Given the description of an element on the screen output the (x, y) to click on. 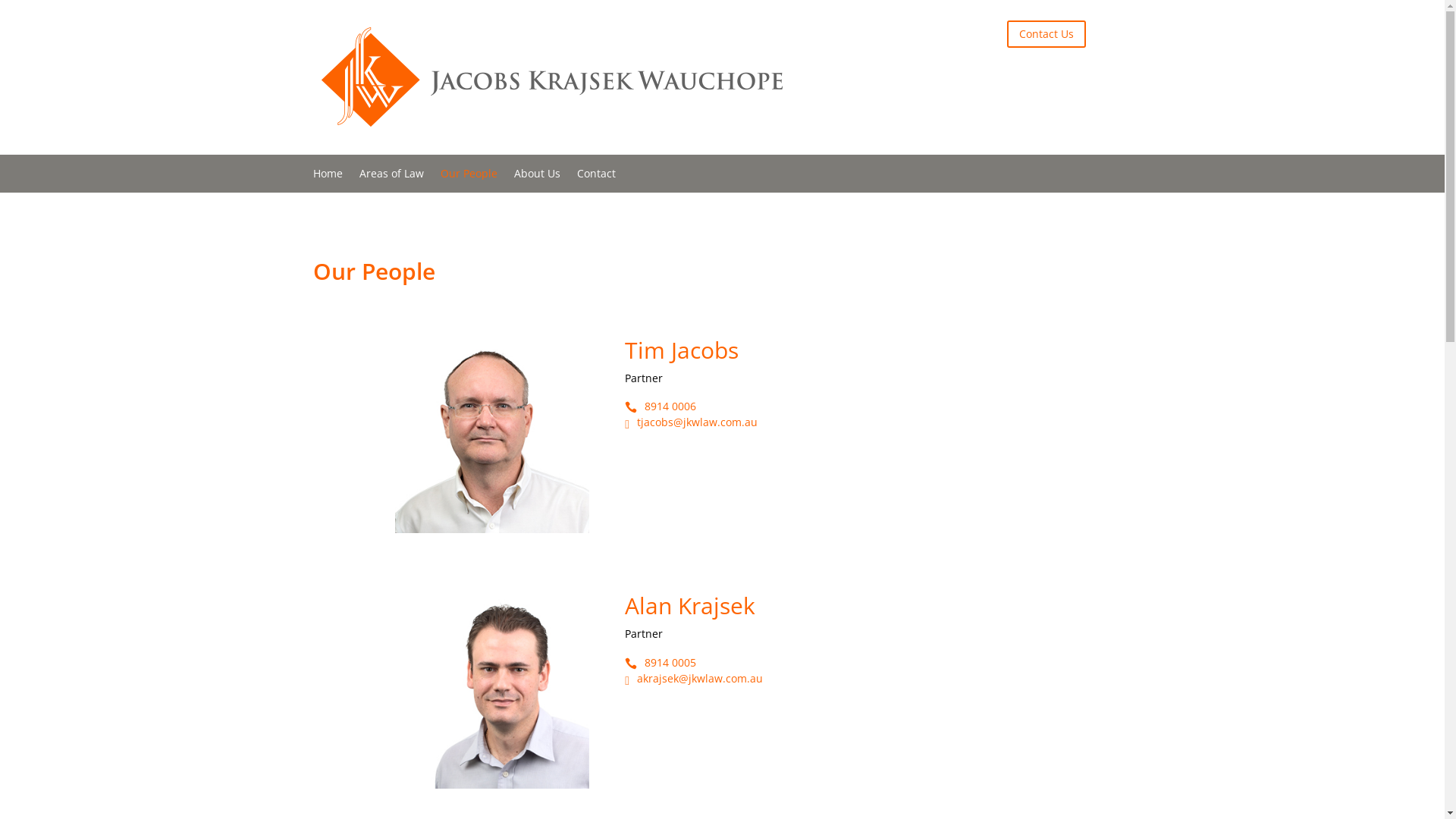
Contact Us Element type: text (1046, 33)
About Us Element type: text (537, 176)
logo Element type: hover (551, 77)
Home Element type: text (327, 176)
Areas of Law Element type: text (391, 176)
8914 0005 Element type: text (670, 662)
Tim Jacobs Element type: text (836, 353)
Our People Element type: text (467, 176)
Contact Element type: text (595, 176)
akrajsek@jkwlaw.com.au Element type: text (699, 678)
8914 0006 Element type: text (670, 405)
tjacobs@jkwlaw.com.au Element type: text (697, 421)
Alan Krajsek Element type: text (836, 609)
